Given the description of an element on the screen output the (x, y) to click on. 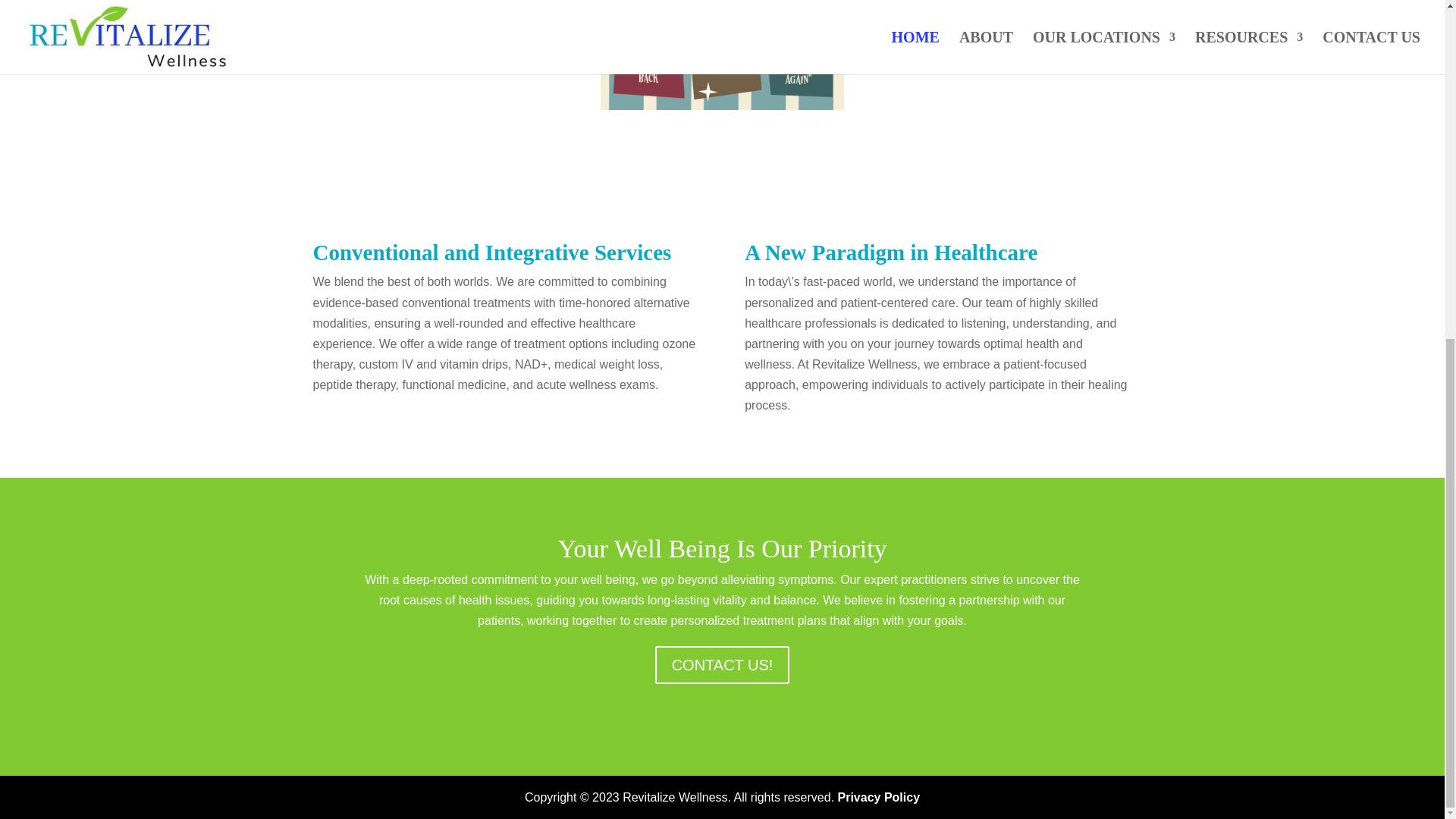
CONTACT US! (722, 664)
Privacy Policy (879, 797)
